Given the description of an element on the screen output the (x, y) to click on. 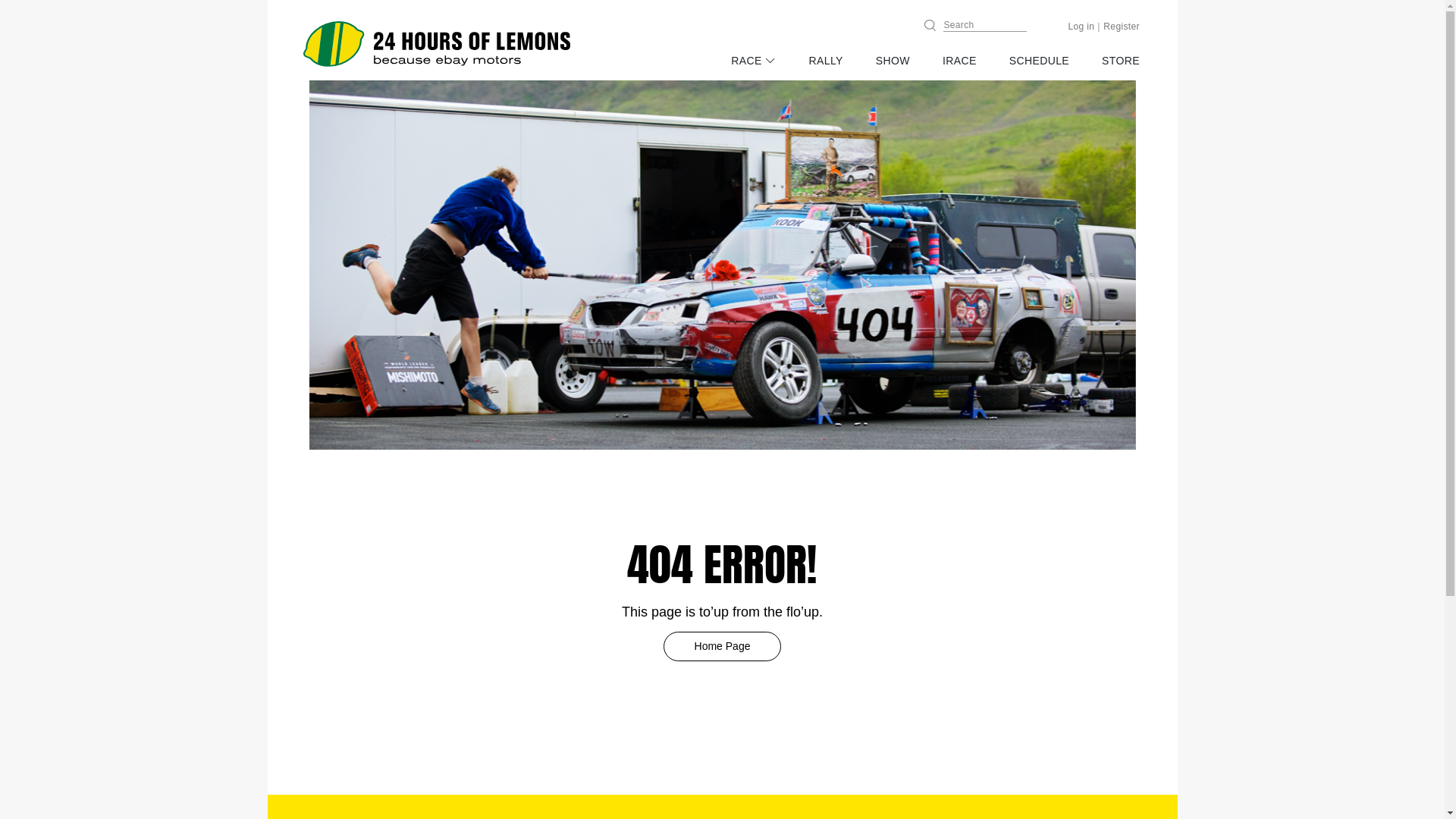
Home Page Element type: text (722, 646)
IRACE Element type: text (959, 60)
Log in Element type: text (1080, 26)
STORE Element type: text (1120, 60)
SHOW Element type: text (892, 60)
Register Element type: text (1121, 26)
RACE Element type: text (753, 60)
SCHEDULE Element type: text (1038, 60)
RALLY Element type: text (825, 60)
